Given the description of an element on the screen output the (x, y) to click on. 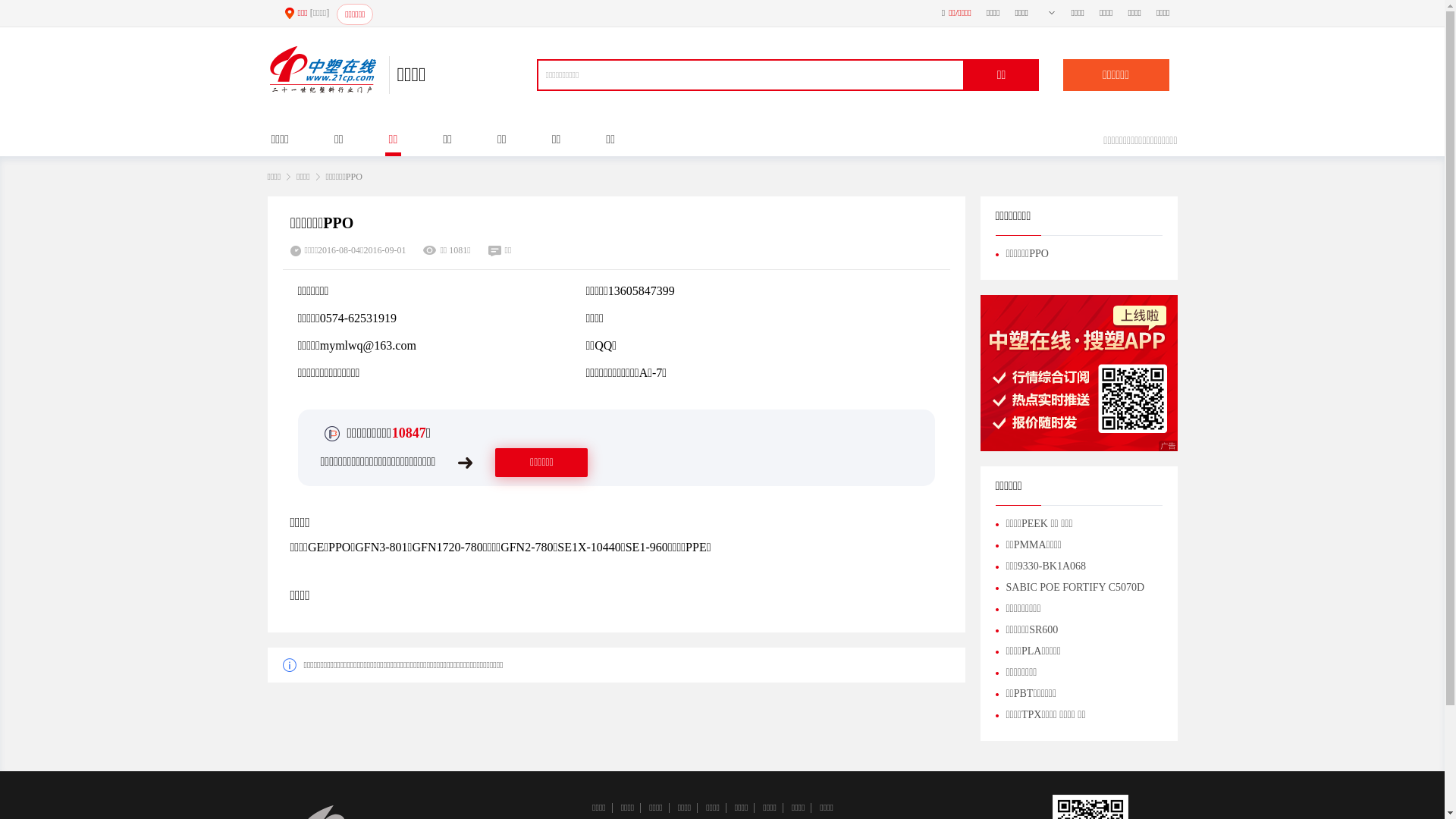
SABIC POE FORTIFY C5070D Element type: text (1069, 587)
